Given the description of an element on the screen output the (x, y) to click on. 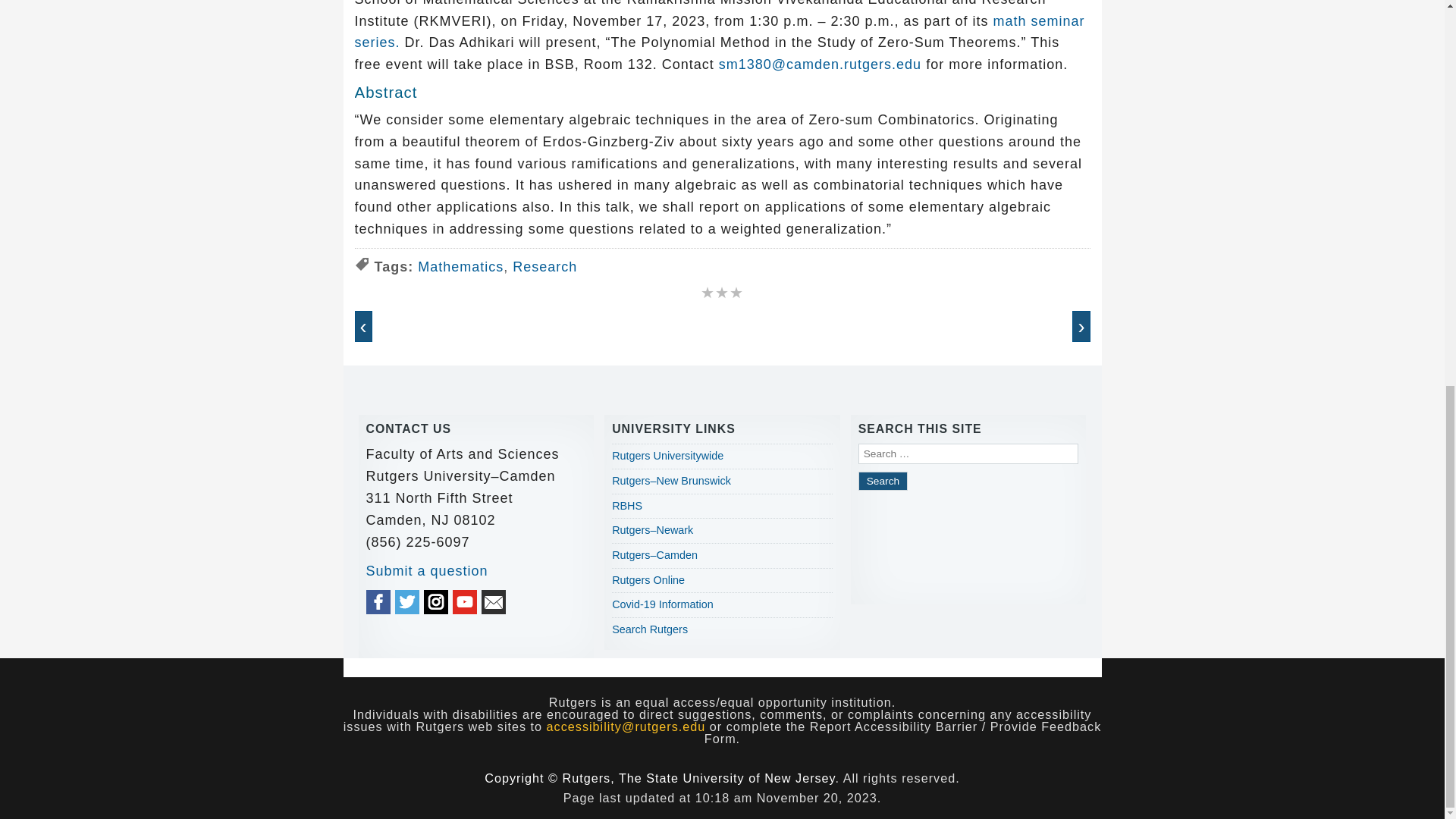
Search (883, 480)
FAS Facebook Page (377, 601)
FAS Instagram (435, 601)
FAS YouTube Channel (464, 601)
Search (883, 480)
FAS Twitter (406, 601)
